Given the description of an element on the screen output the (x, y) to click on. 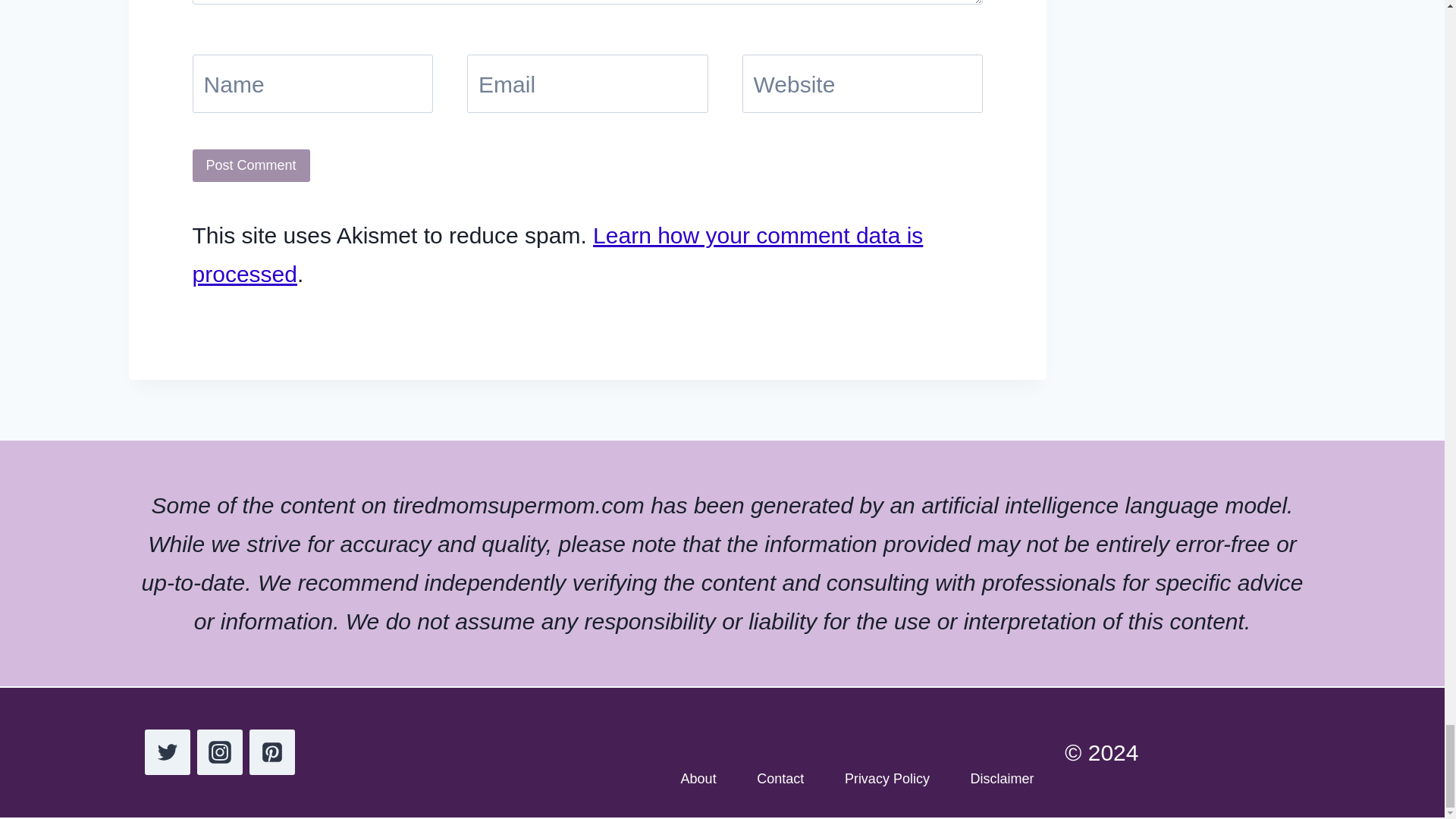
Post Comment (251, 165)
Post Comment (251, 165)
Learn how your comment data is processed (557, 254)
